Given the description of an element on the screen output the (x, y) to click on. 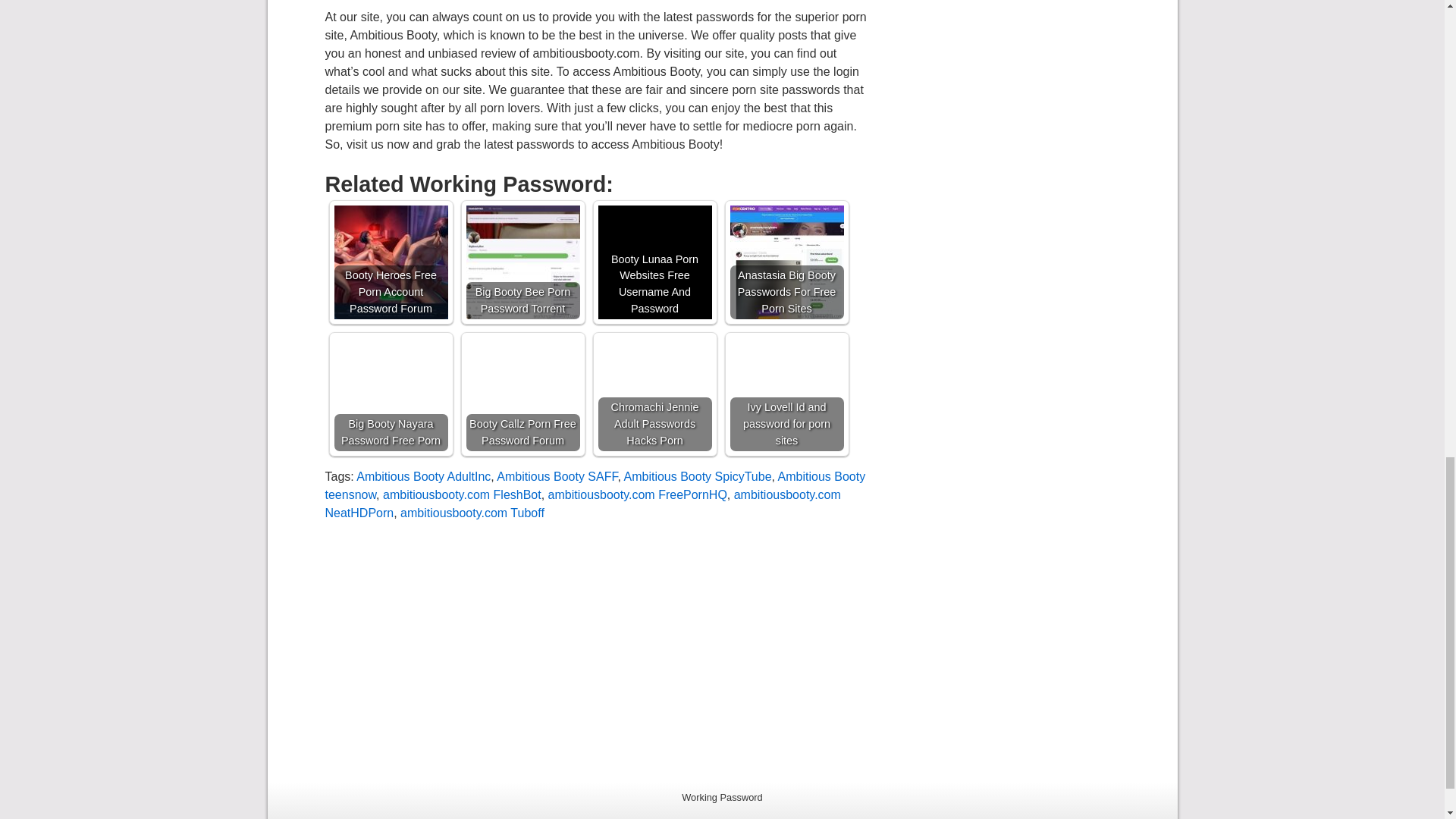
Booty Heroes Free Porn Account Password Forum (389, 262)
ambitiousbooty.com Tuboff (472, 512)
Ambitious Booty SpicyTube (697, 476)
Booty Callz Porn Free Password Forum (522, 394)
Chromachi Jennie Adult Passwords Hacks Porn (653, 394)
ambitiousbooty.com NeatHDPorn (582, 503)
Ivy Lovell Id and password for porn sites (786, 394)
Anastasia Big Booty Passwords For Free Porn Sites (786, 262)
Chromachi Jennie Adult Passwords Hacks Porn (653, 394)
ambitiousbooty.com FreePornHQ (637, 494)
